Given the description of an element on the screen output the (x, y) to click on. 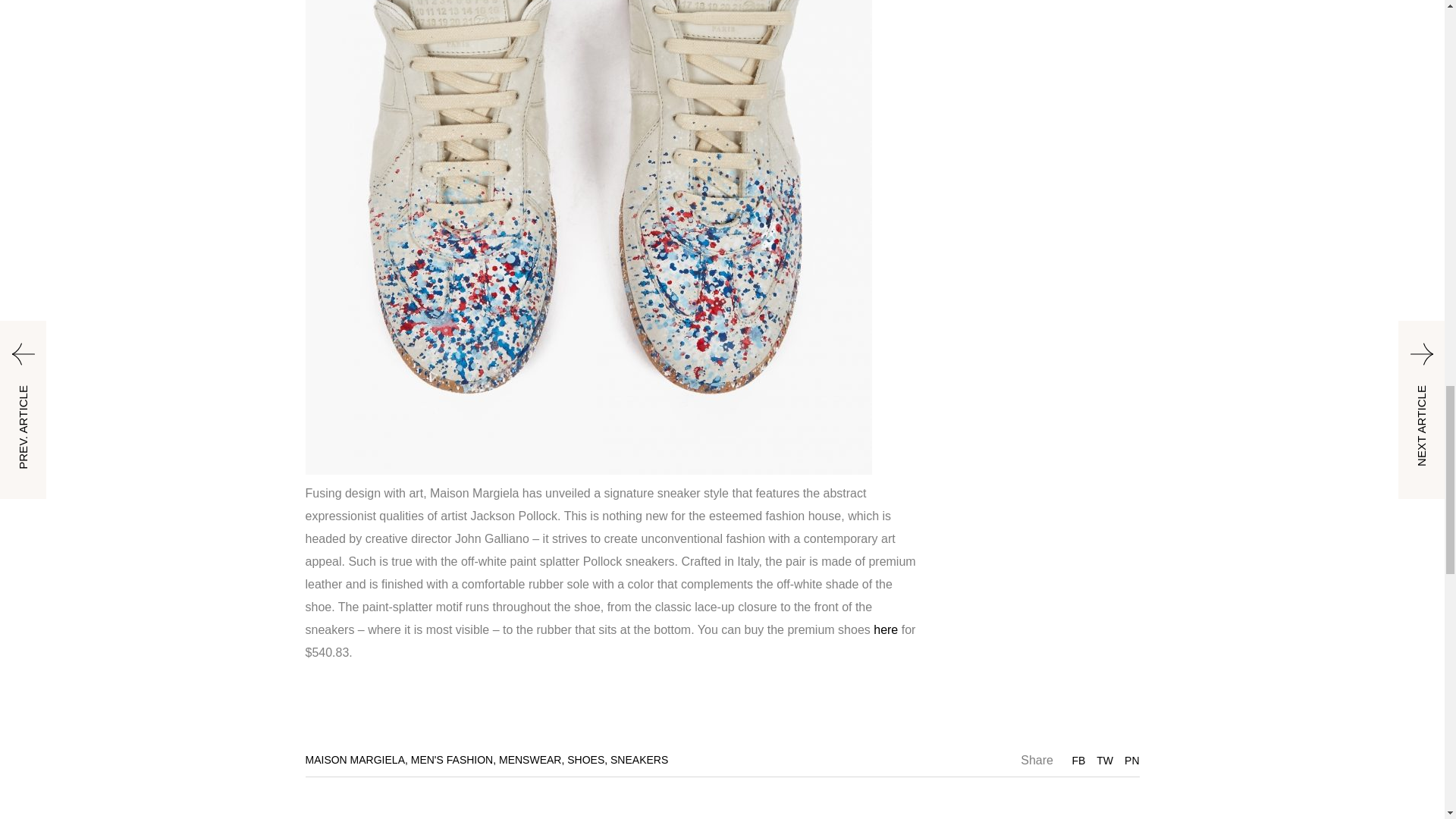
here (885, 629)
